Given the description of an element on the screen output the (x, y) to click on. 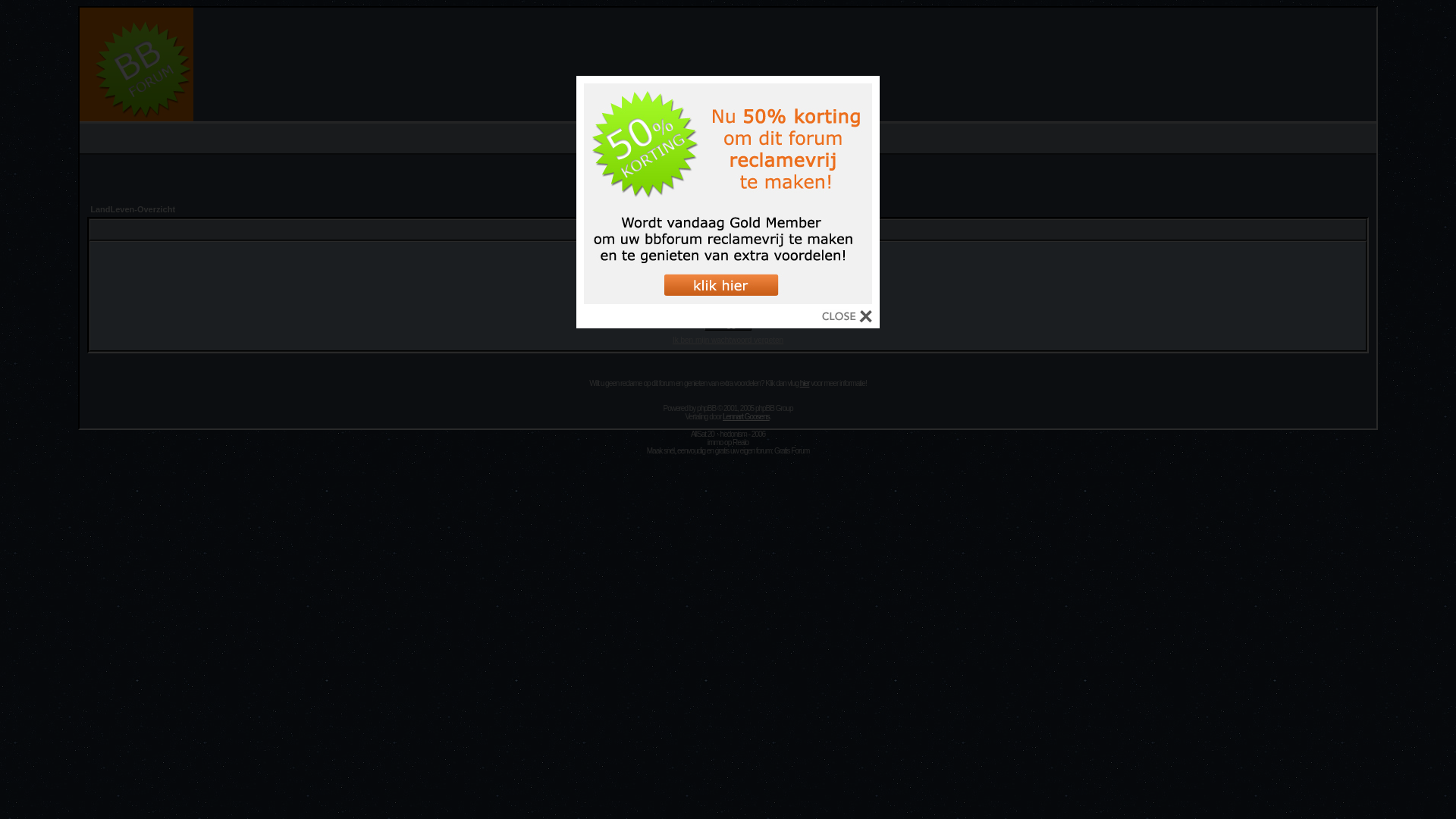
Zoeken Element type: text (743, 132)
immo op Realo Element type: text (727, 442)
Registreren Element type: text (748, 143)
Viraal Nieuws Element type: text (727, 179)
LandLeven-Overzicht Element type: text (132, 208)
Inloggen Element type: text (701, 143)
FAQ Element type: text (707, 132)
Inloggen Element type: text (727, 324)
hier Element type: text (804, 383)
Gratis Forum Element type: text (791, 450)
hedonism Element type: text (733, 433)
phpBB Element type: text (705, 408)
sluiten Element type: hover (847, 318)
Ik ben mijn wachtwoord vergeten Element type: text (727, 339)
klik voor meer informatie Element type: hover (727, 300)
Lennart Goosens Element type: text (745, 416)
